Given the description of an element on the screen output the (x, y) to click on. 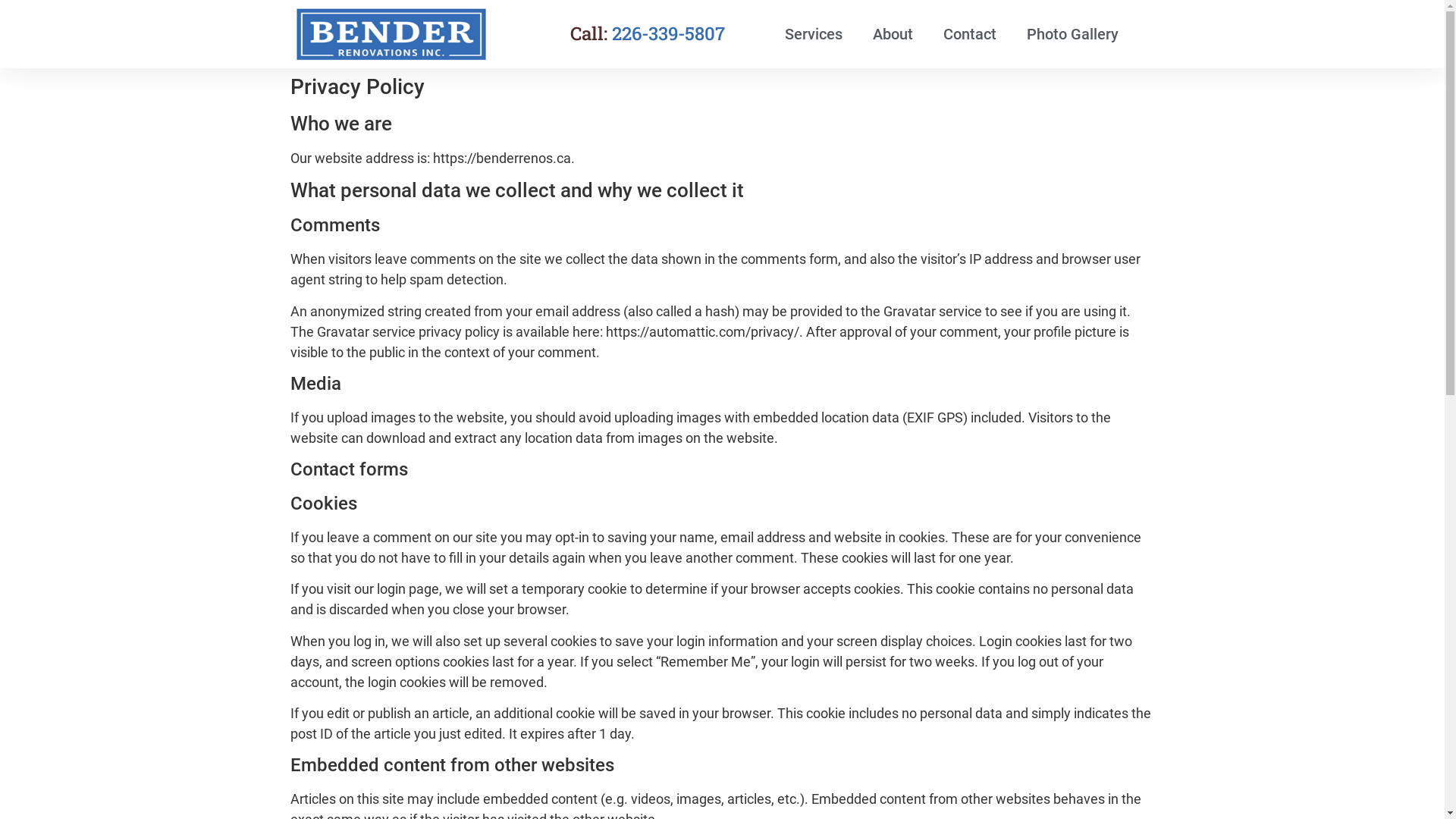
Services Element type: text (813, 34)
Contact Element type: text (969, 34)
226-339-5807 Element type: text (667, 33)
About Element type: text (892, 34)
Photo Gallery Element type: text (1072, 34)
